Given the description of an element on the screen output the (x, y) to click on. 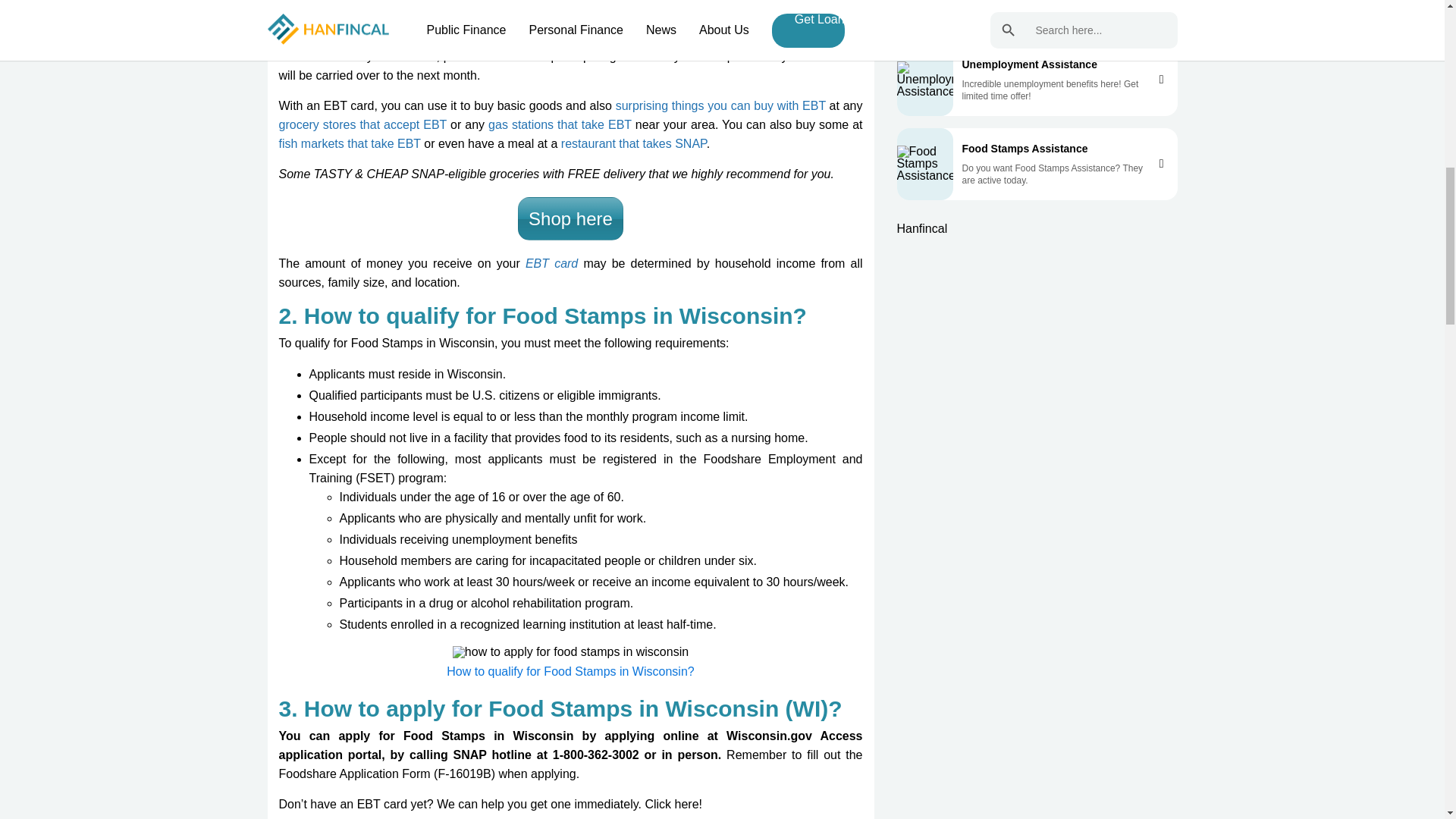
grocery stores that accept EBT (362, 124)
fish markets that take EBT (349, 143)
EBT card (551, 263)
restaurant that takes SNAP (633, 143)
Shop here (570, 218)
gas stations that take EBT (559, 124)
surprising things you can buy with EBT (720, 105)
